Given the description of an element on the screen output the (x, y) to click on. 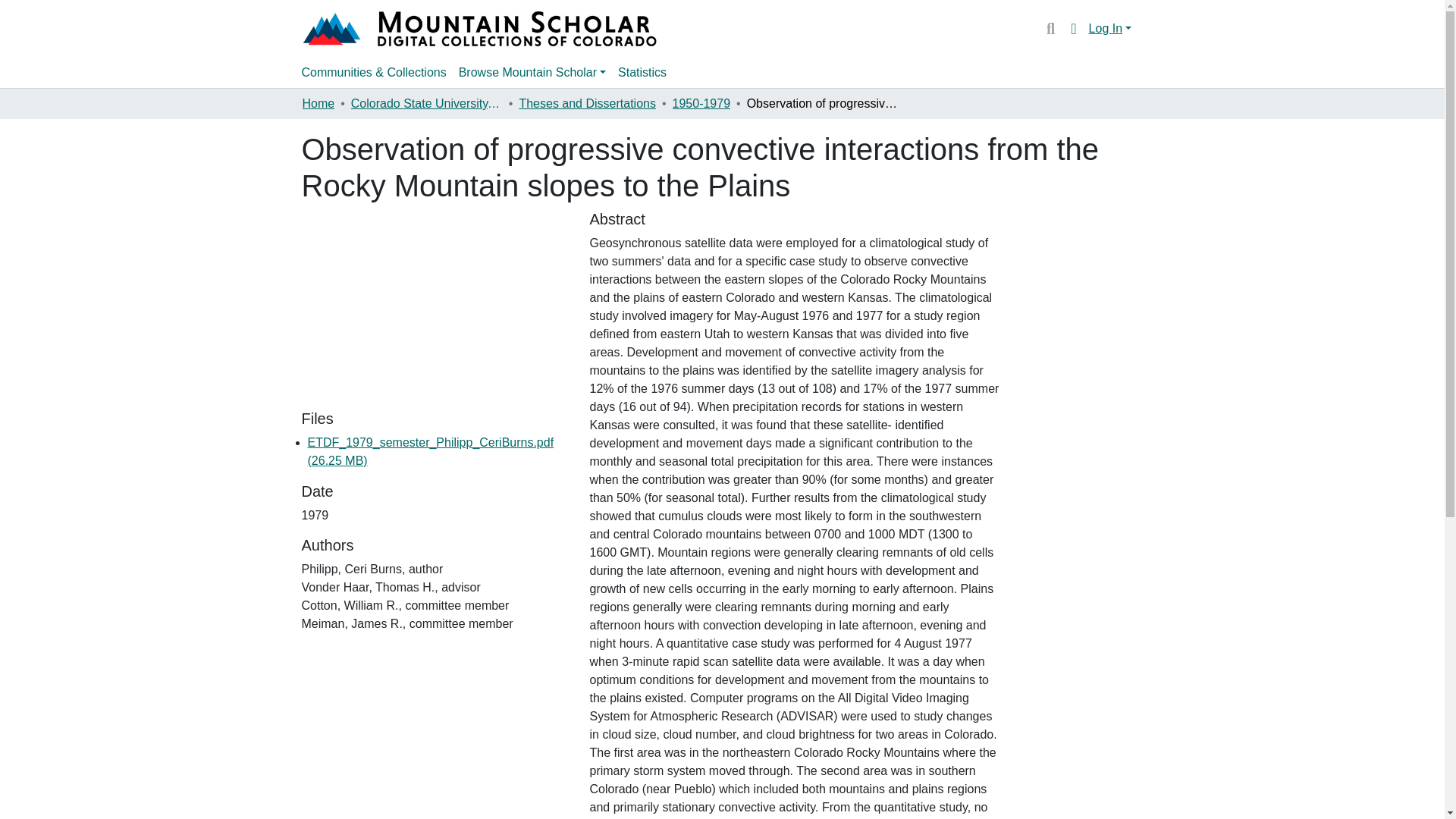
1950-1979 (701, 104)
Log In (1110, 28)
Statistics (641, 72)
Search (1050, 28)
Browse Mountain Scholar (531, 72)
Language switch (1073, 28)
Theses and Dissertations (587, 104)
Statistics (641, 72)
Colorado State University, Fort Collins (426, 104)
Home (317, 104)
